Given the description of an element on the screen output the (x, y) to click on. 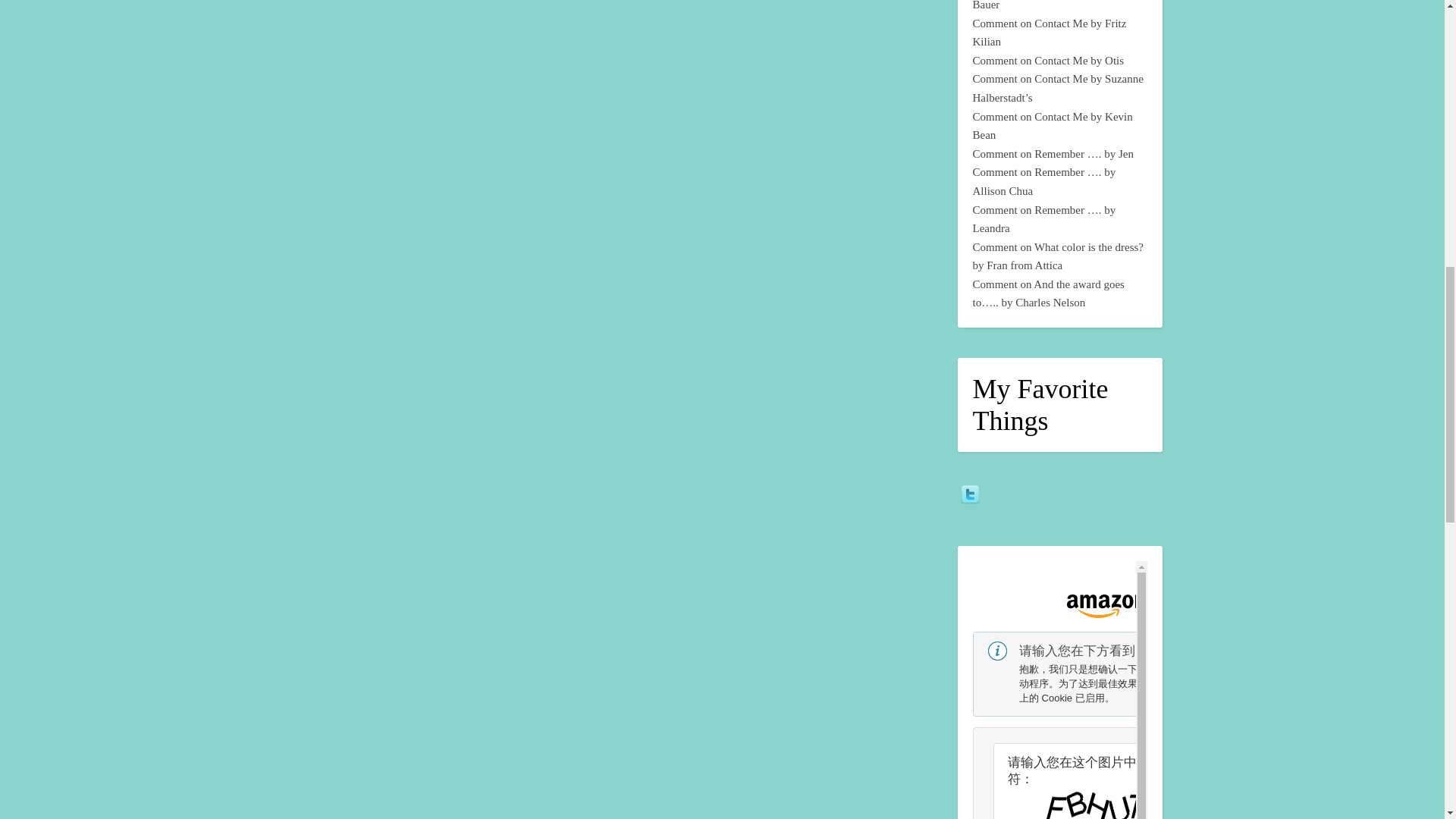
Comment on What color is the dress? by Fran from Attica (1057, 255)
Comment on Contact Me by Matt Bauer (1048, 5)
Comment on Contact Me by Otis (1048, 60)
Comment on Contact Me by Kevin Bean (1052, 125)
Comment on Contact Me by Fritz Kilian (1048, 32)
